Given the description of an element on the screen output the (x, y) to click on. 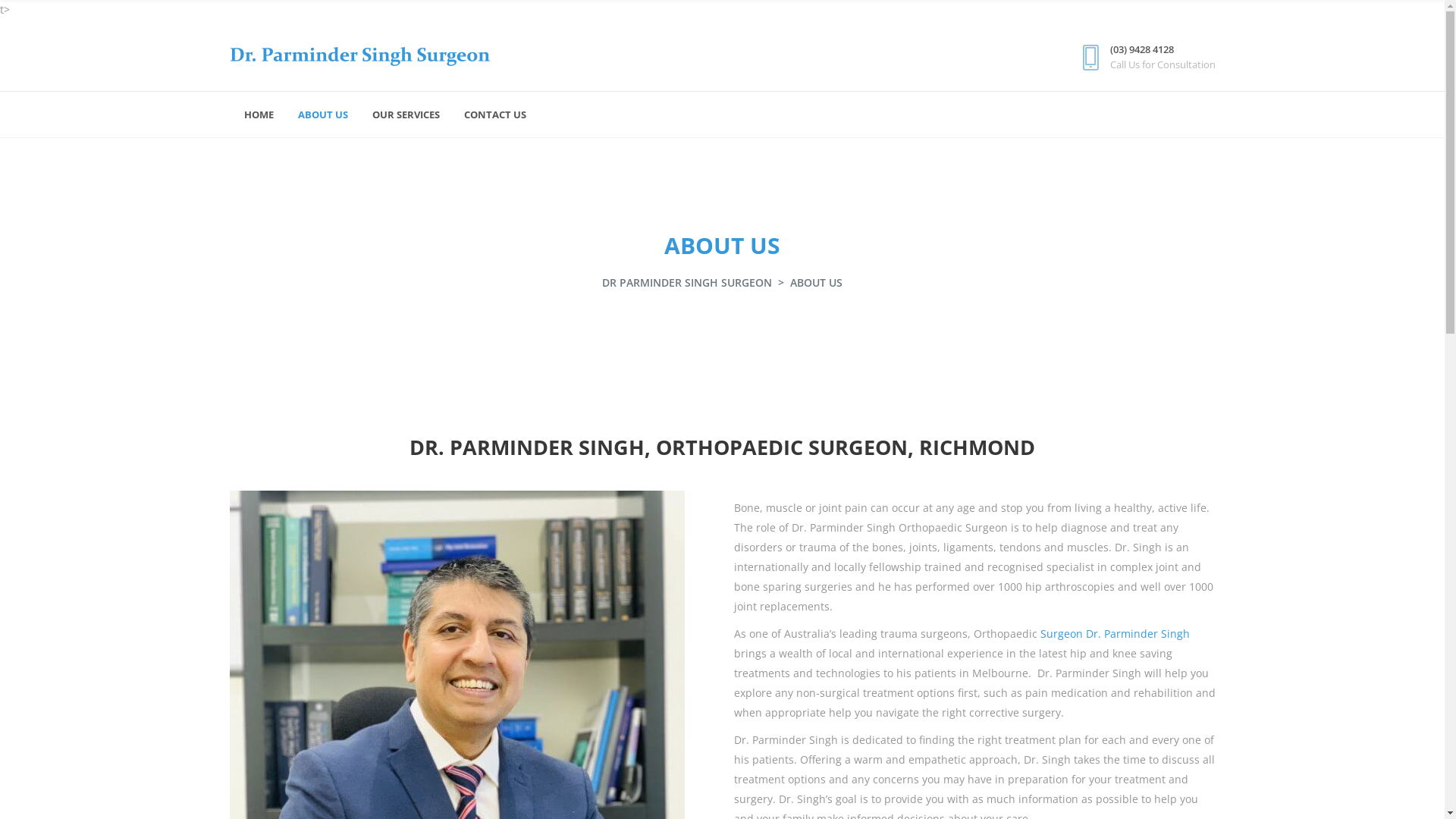
Surgeon Dr. Parminder Singh Element type: text (1114, 633)
CONTACT US Element type: text (493, 114)
ABOUT US Element type: text (320, 114)
DR PARMINDER SINGH SURGEON Element type: text (686, 282)
HOME Element type: text (257, 114)
OUR SERVICES Element type: text (403, 114)
